Given the description of an element on the screen output the (x, y) to click on. 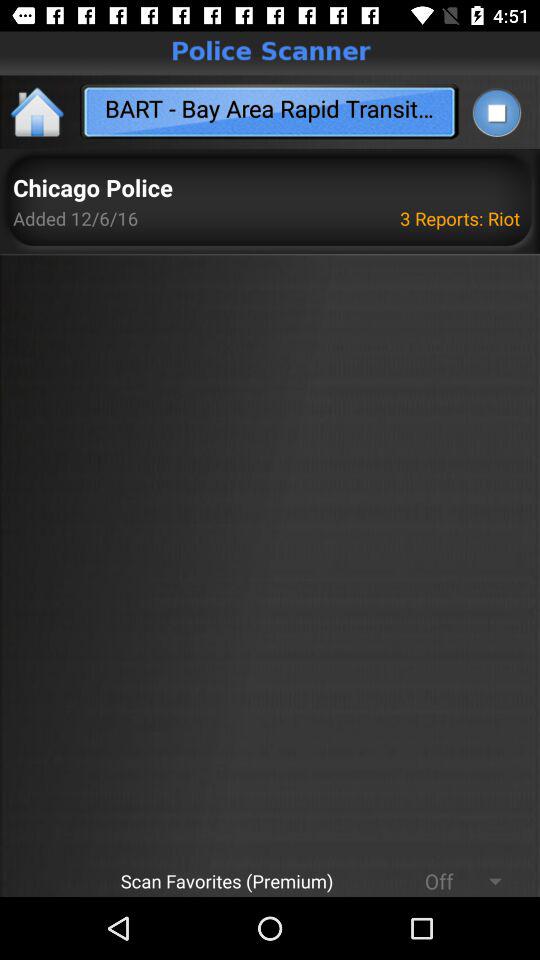
launch the added 12 6 (75, 218)
